Given the description of an element on the screen output the (x, y) to click on. 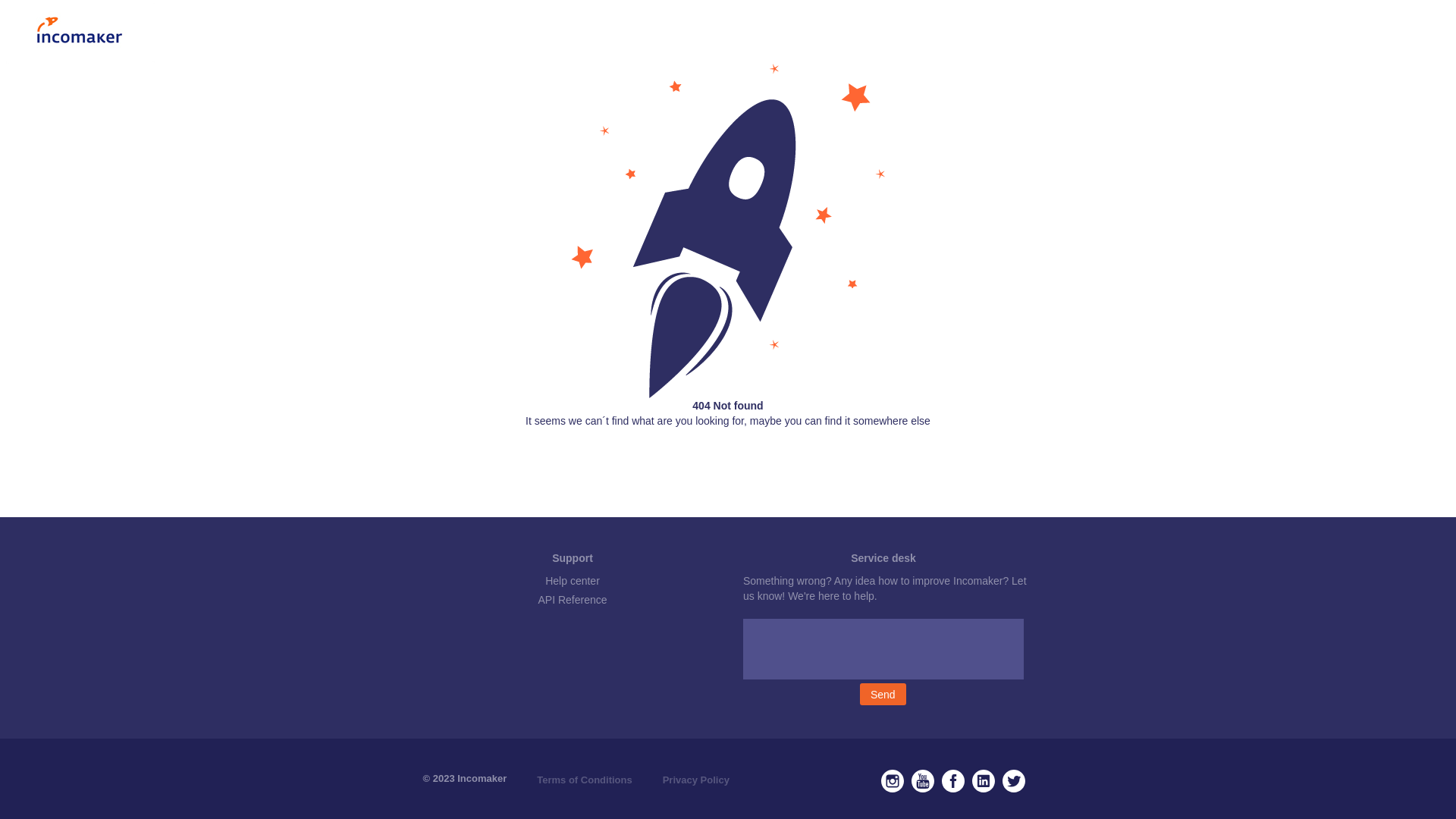
API Reference Element type: text (571, 599)
Send Element type: text (882, 694)
Privacy Policy Element type: text (695, 779)
Help center Element type: text (572, 580)
Terms of Conditions Element type: text (583, 779)
